Given the description of an element on the screen output the (x, y) to click on. 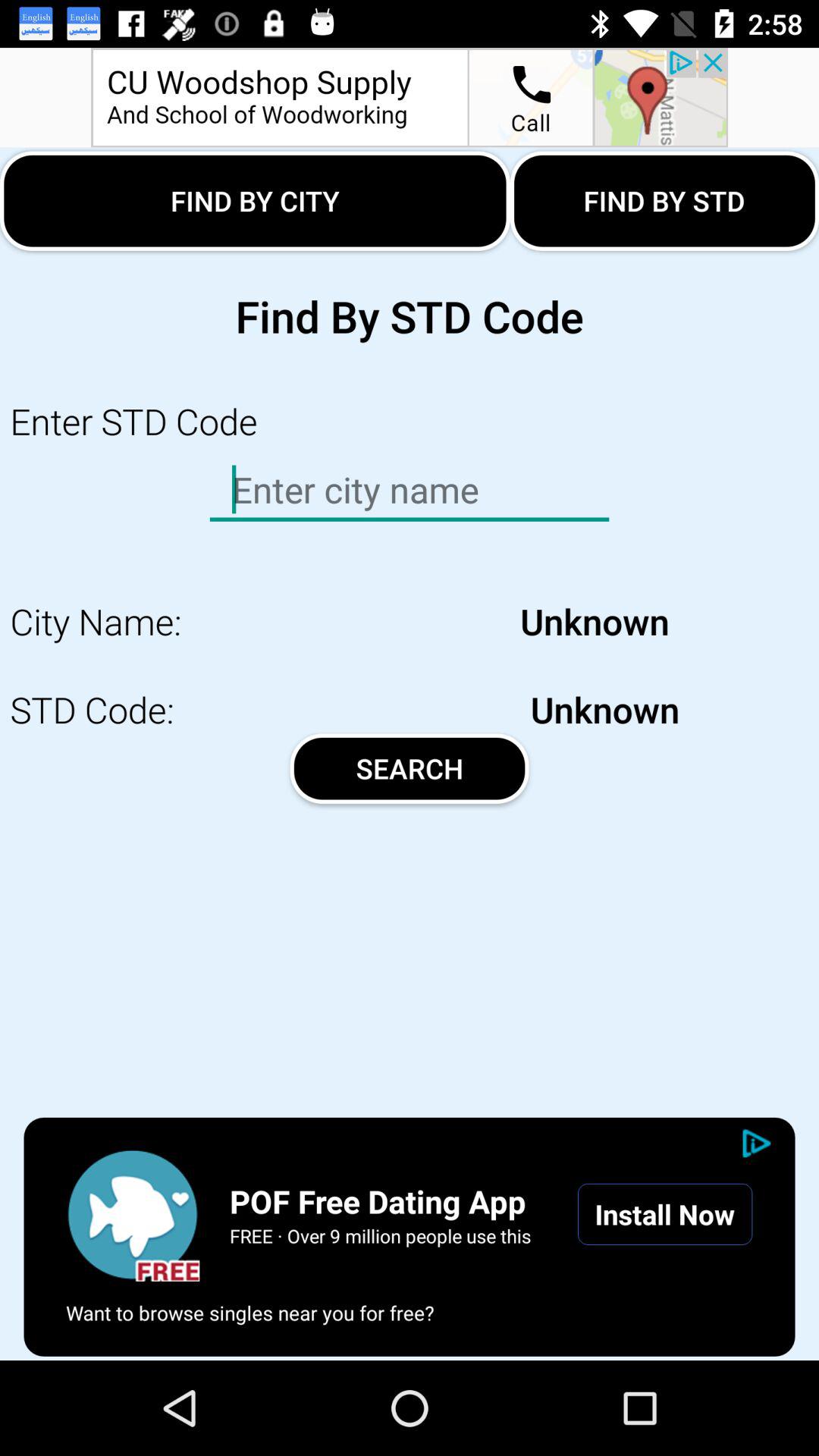
opens advertisement (409, 97)
